Given the description of an element on the screen output the (x, y) to click on. 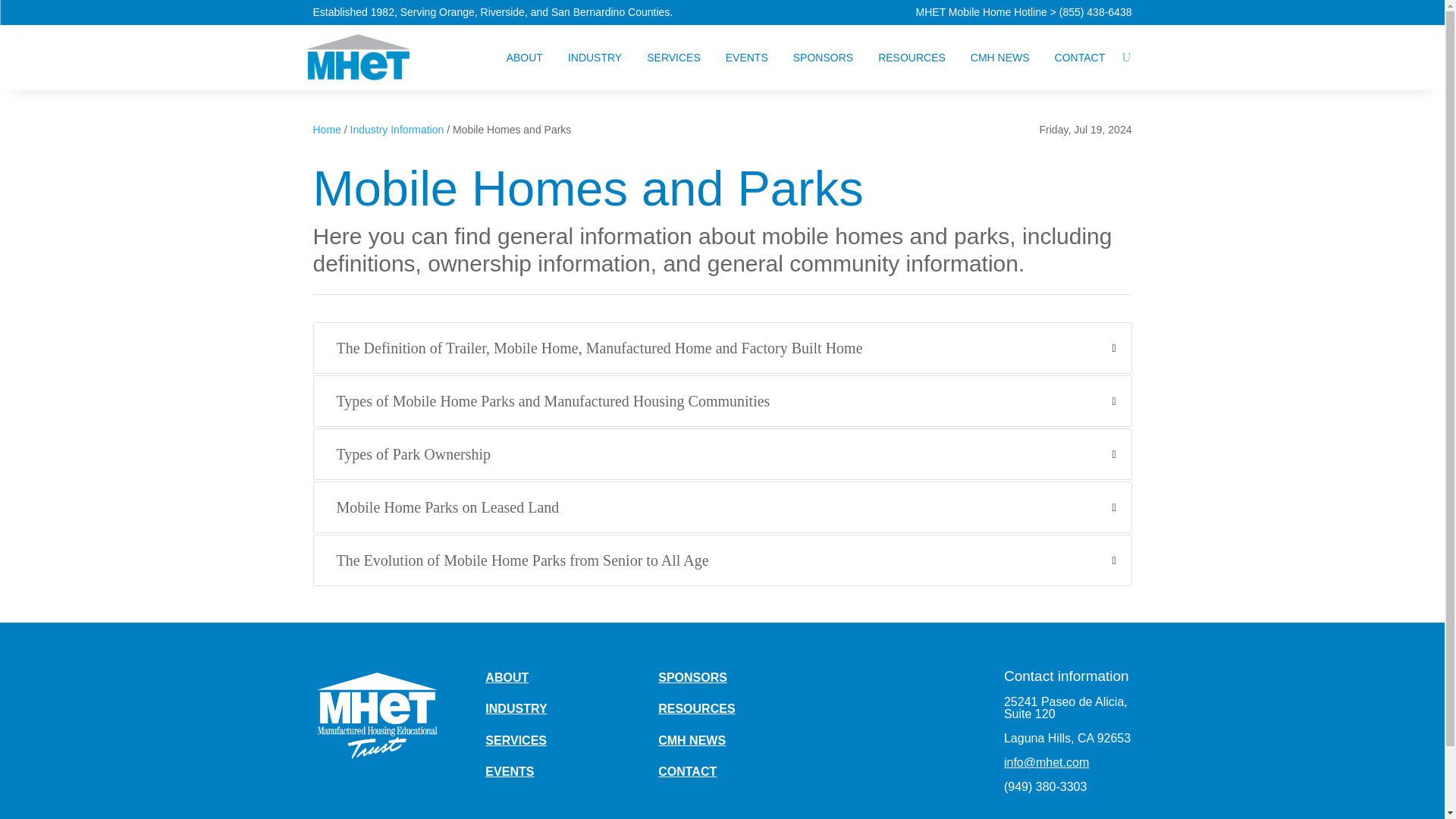
logowhite (376, 714)
SERVICES (673, 57)
INDUSTRY (594, 57)
RESOURCES (910, 57)
SPONSORS (823, 57)
CMH NEWS (1000, 57)
EVENTS (746, 57)
ABOUT (524, 57)
CONTACT (1079, 57)
